Given the description of an element on the screen output the (x, y) to click on. 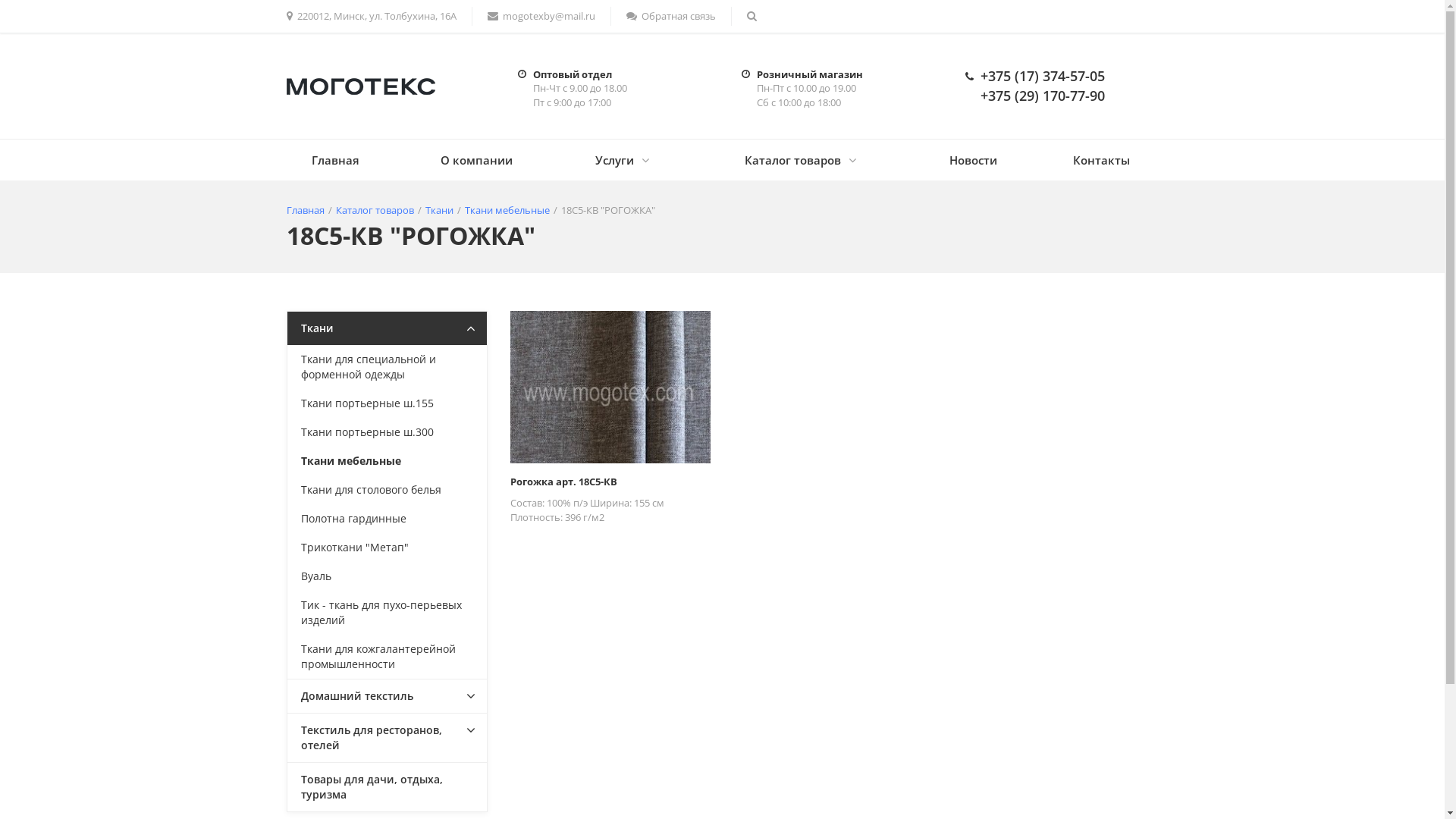
+375 (29) 170-77-90 Element type: text (1041, 95)
mogotexby@mail.ru Element type: text (540, 16)
91+24 Element type: hover (609, 386)
+375 (17) 374-57-05 Element type: text (1041, 75)
